Given the description of an element on the screen output the (x, y) to click on. 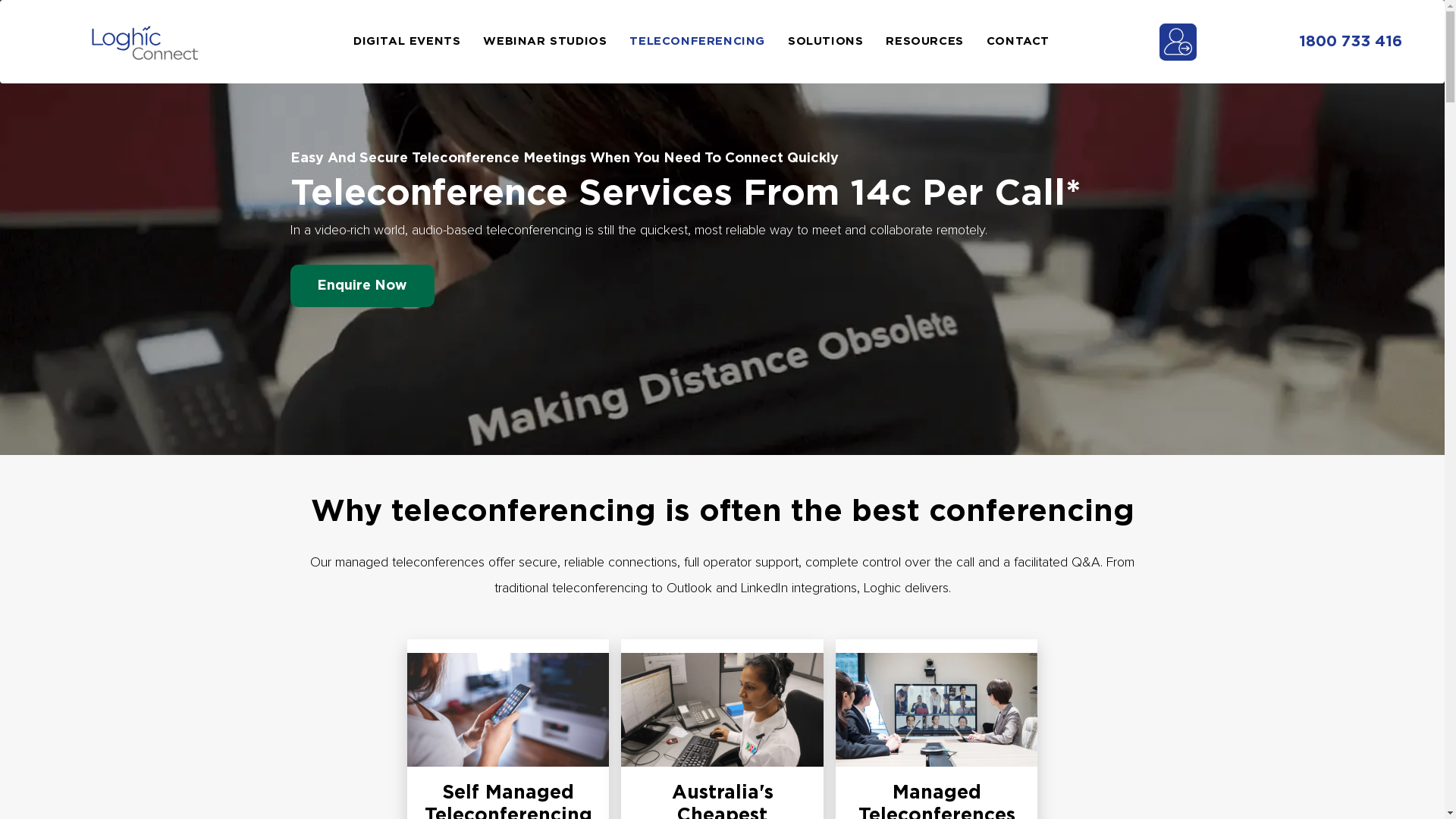
RESOURCES Element type: text (935, 41)
amp login Element type: hover (1177, 40)
TELECONFERENCING Element type: text (708, 41)
SOLUTIONS Element type: text (836, 41)
DIGITAL EVENTS Element type: text (418, 41)
WEBINAR STUDIOS Element type: text (556, 41)
1800 733 416 Element type: text (1350, 41)
CONTACT Element type: text (1029, 41)
Enquire Now Element type: text (361, 285)
